Given the description of an element on the screen output the (x, y) to click on. 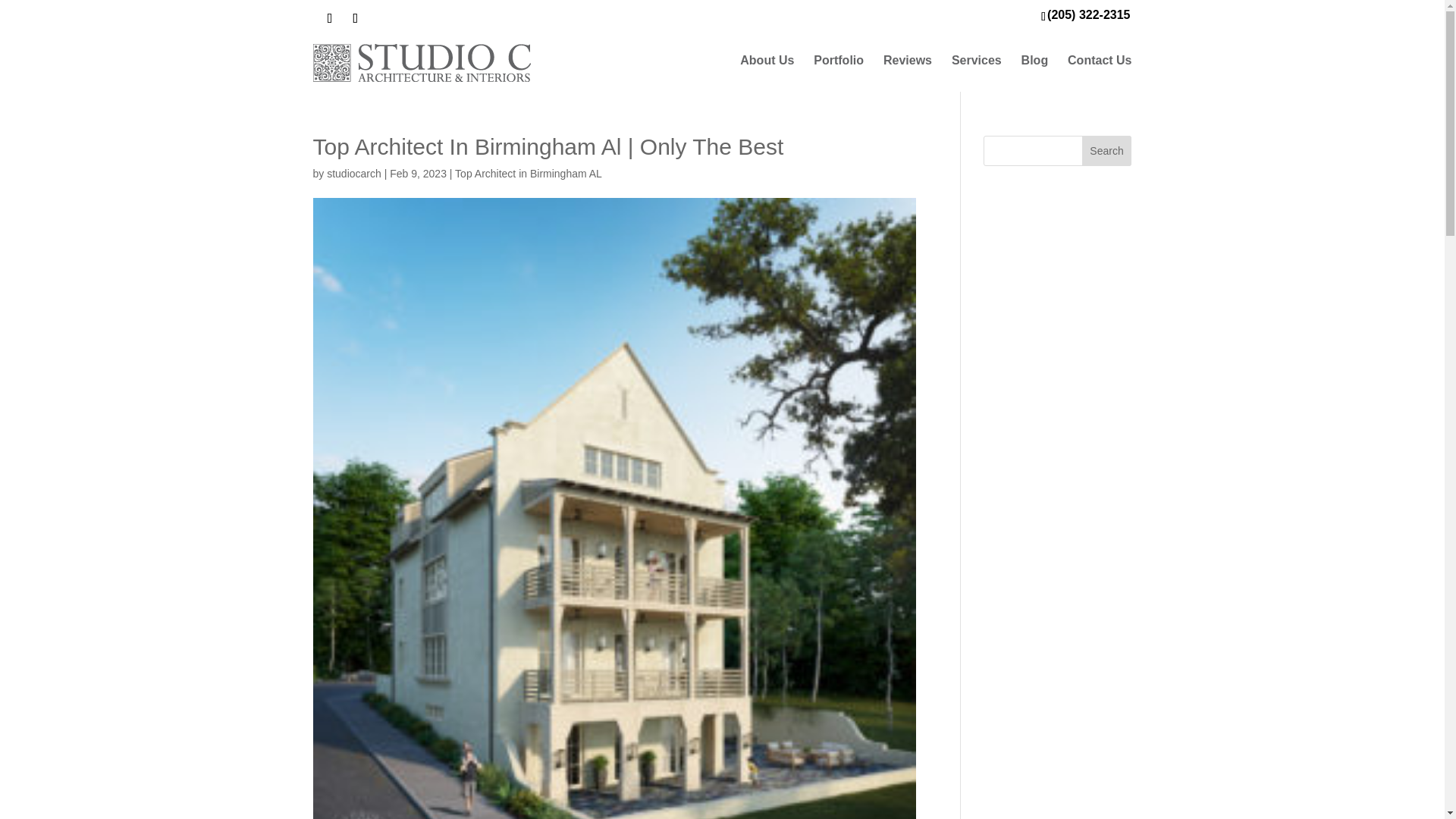
Reviews (907, 60)
Top Architect in Birmingham AL (528, 173)
Portfolio (838, 60)
Posts by studiocarch (353, 173)
Contact Us (1099, 60)
Search (1106, 150)
Blog (1035, 60)
Services (976, 60)
About Us (766, 60)
studiocarch (353, 173)
Search (1106, 150)
